Given the description of an element on the screen output the (x, y) to click on. 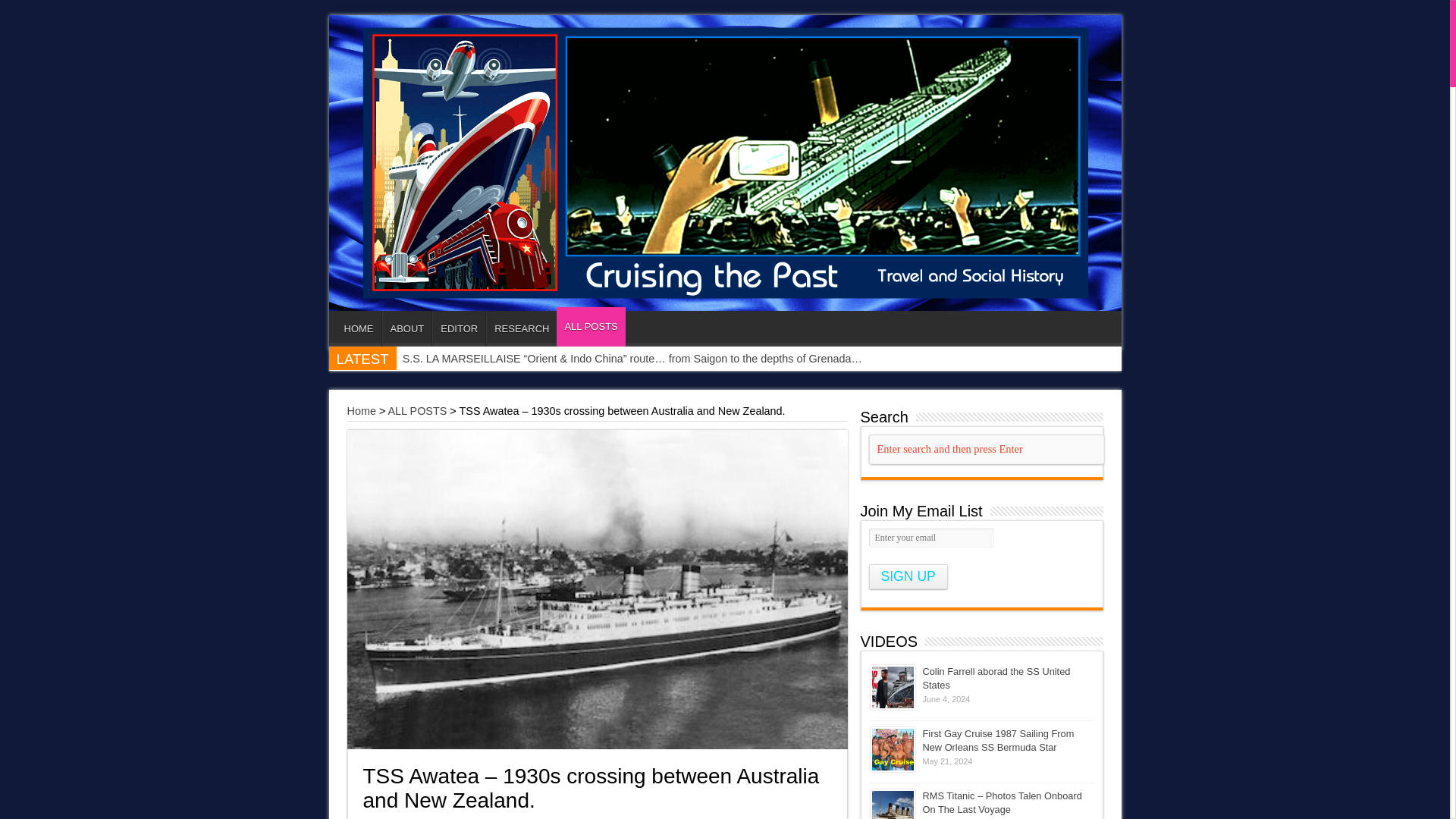
EDITOR (458, 328)
HOME (358, 328)
Enter search and then press Enter (986, 449)
ABOUT (406, 328)
ALL POSTS (590, 326)
RESEARCH (521, 328)
ALL POSTS (417, 410)
Home (361, 410)
Sign up (908, 576)
